Given the description of an element on the screen output the (x, y) to click on. 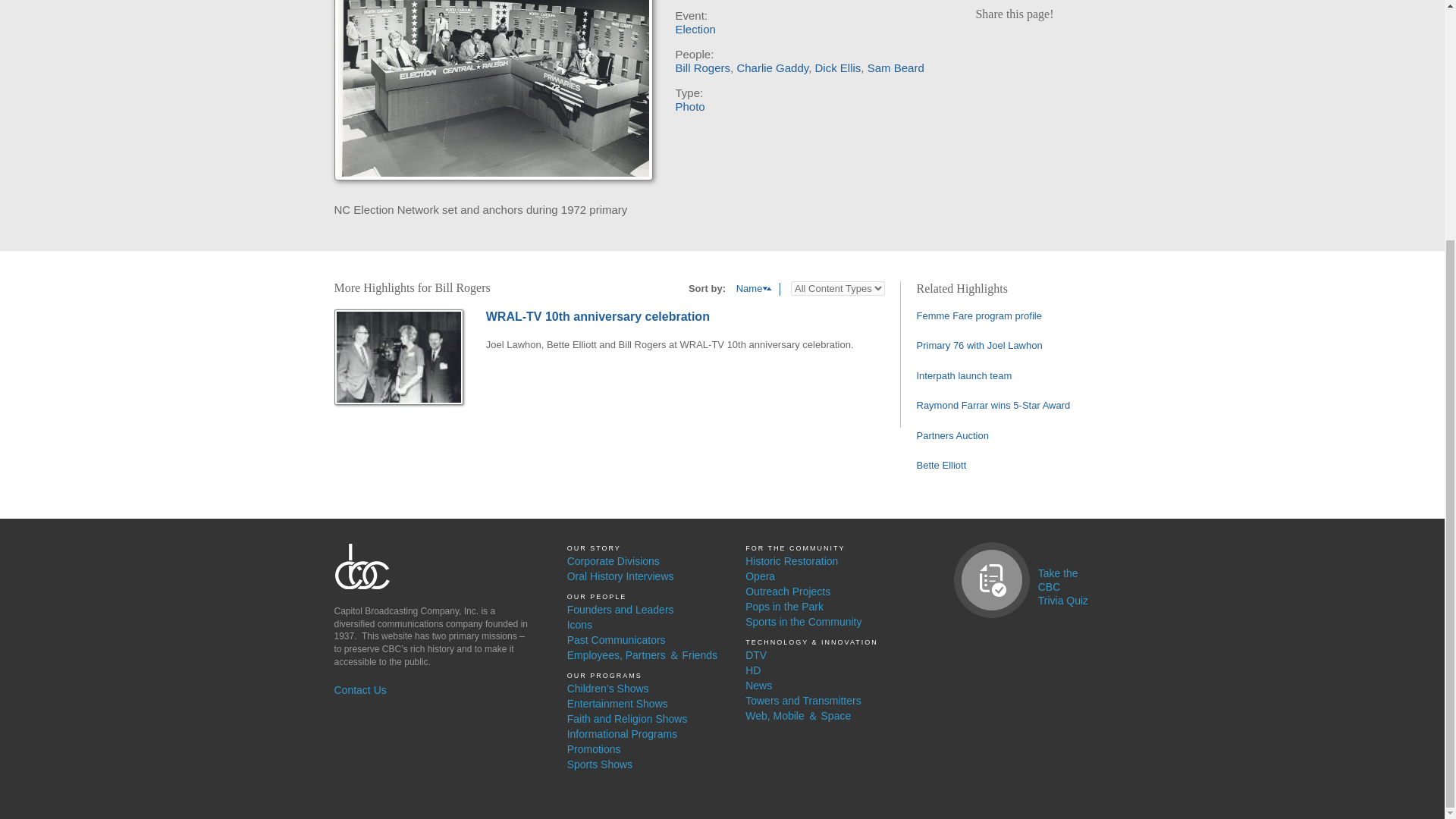
Contact Us (430, 689)
Bill Rogers (702, 67)
Election (694, 29)
